Given the description of an element on the screen output the (x, y) to click on. 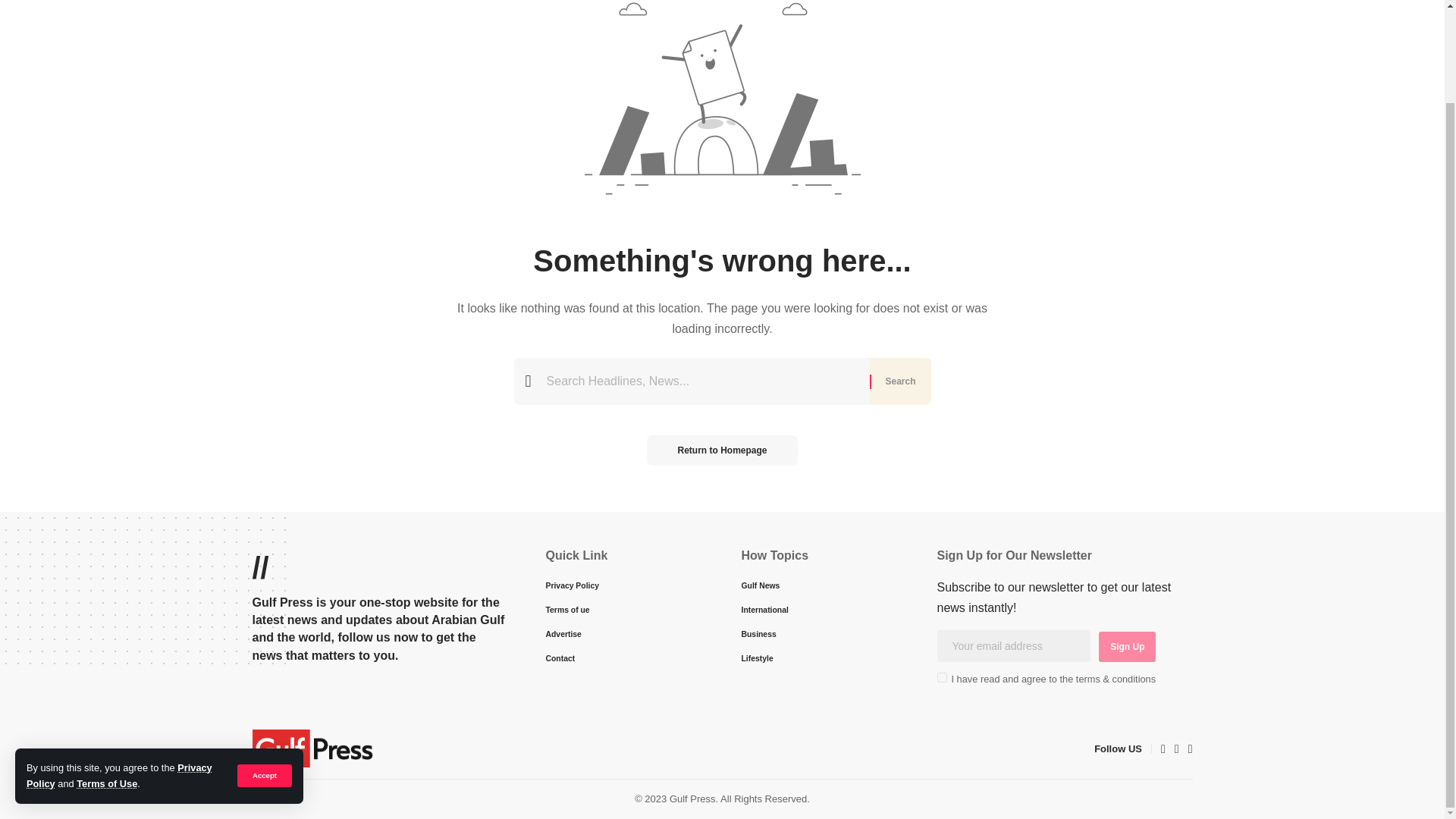
Search (899, 380)
Gulf Press (311, 748)
1 (942, 677)
Accept (264, 668)
Search (899, 380)
Privacy Policy (119, 668)
Sign Up (1127, 646)
Terms of Use (106, 676)
